Given the description of an element on the screen output the (x, y) to click on. 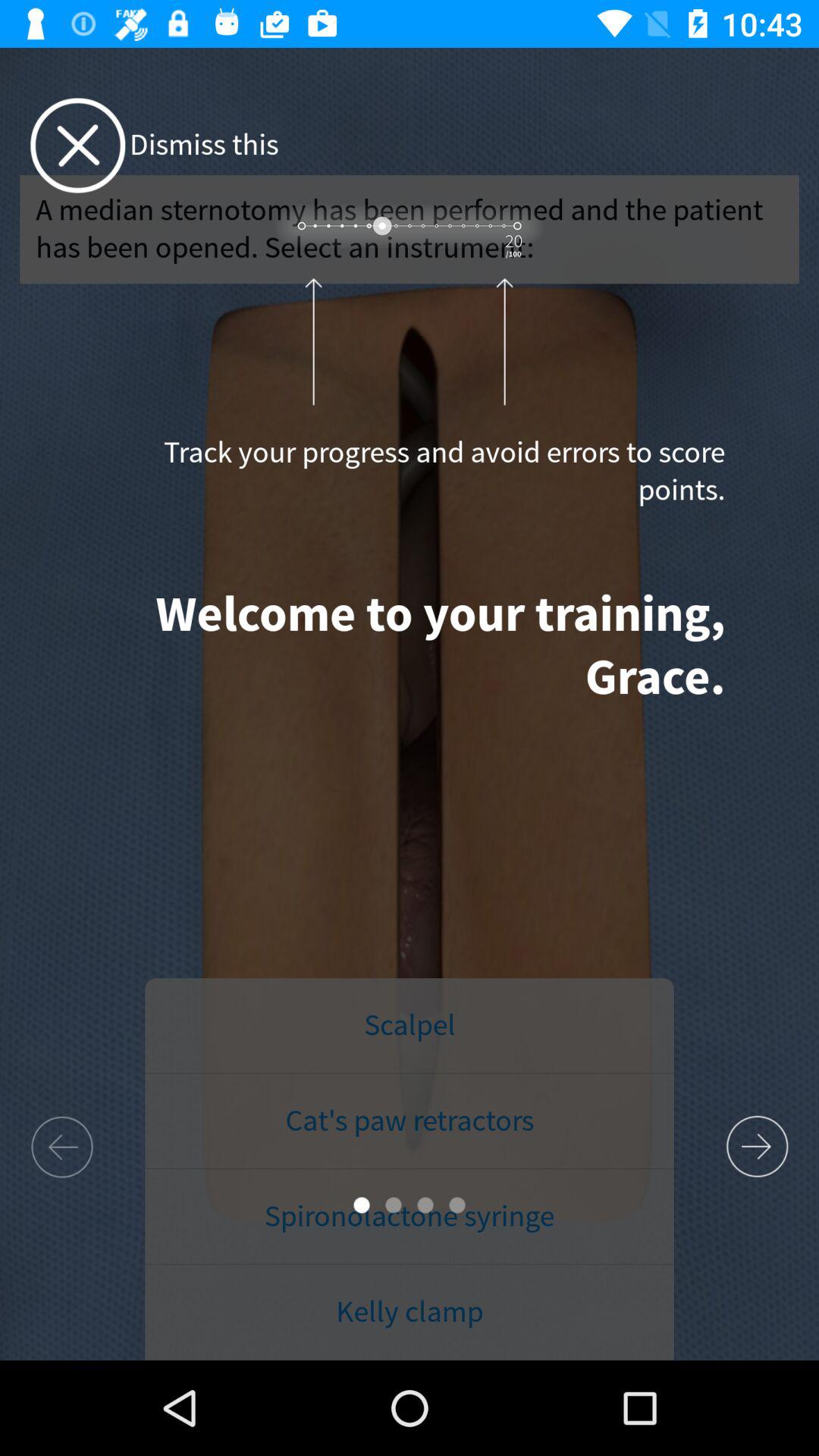
open the icon below spironolactone syringe item (409, 1312)
